Given the description of an element on the screen output the (x, y) to click on. 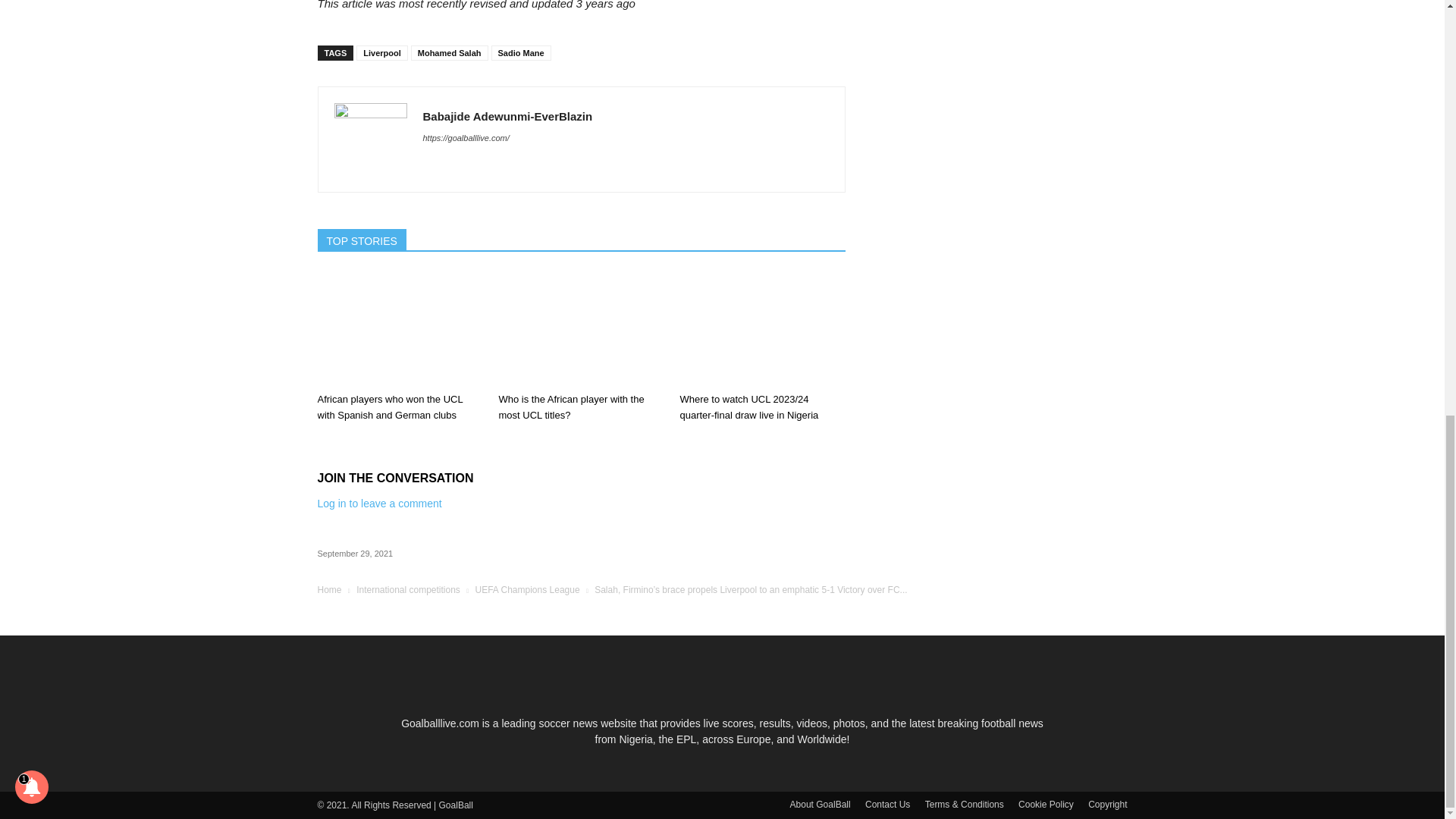
Who is the African player with the most UCL titles? (570, 406)
Who is the African player with the most UCL titles? (580, 328)
